Given the description of an element on the screen output the (x, y) to click on. 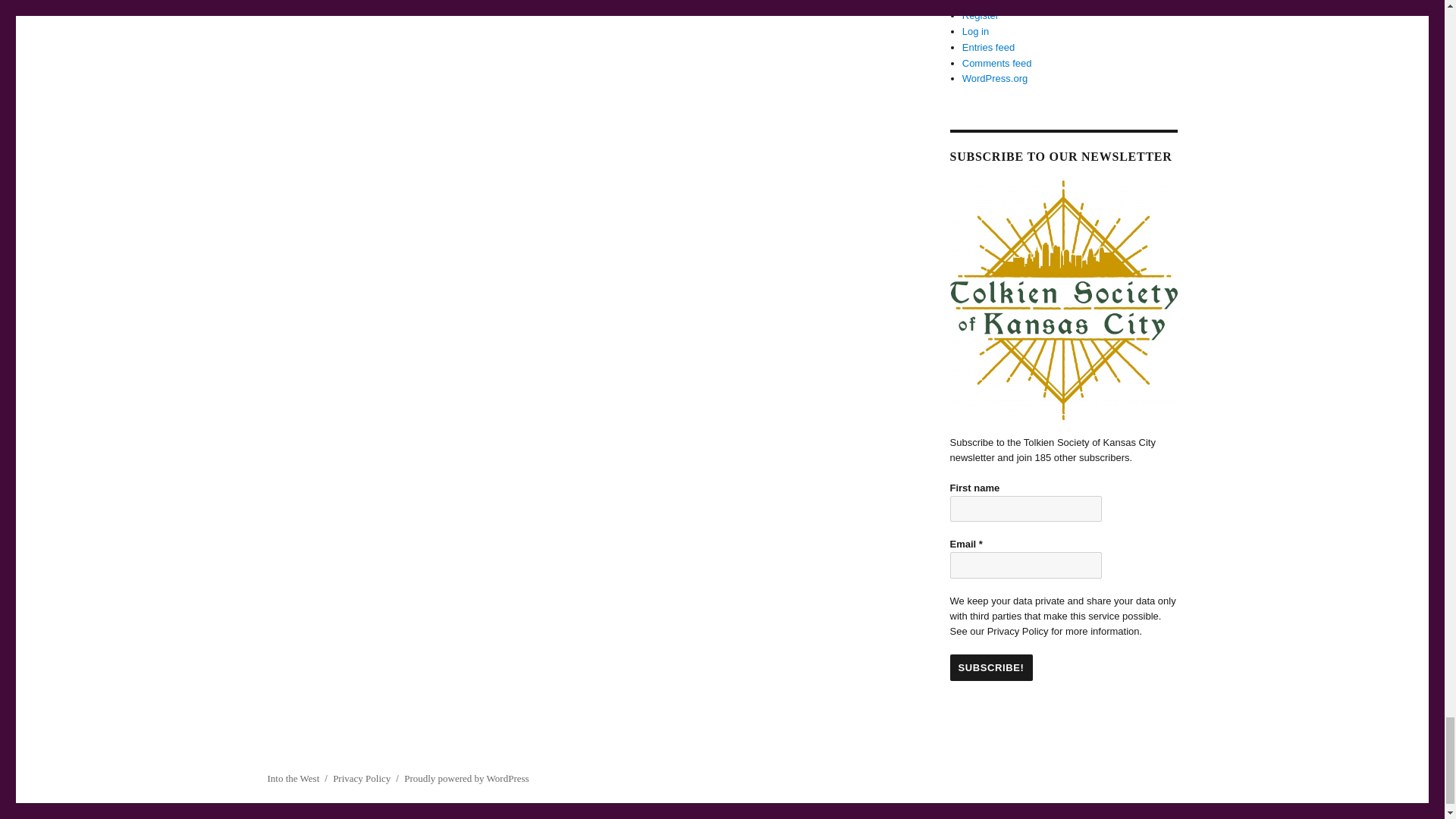
Email (1024, 565)
Subscribe! (990, 667)
First name (1024, 509)
